Given the description of an element on the screen output the (x, y) to click on. 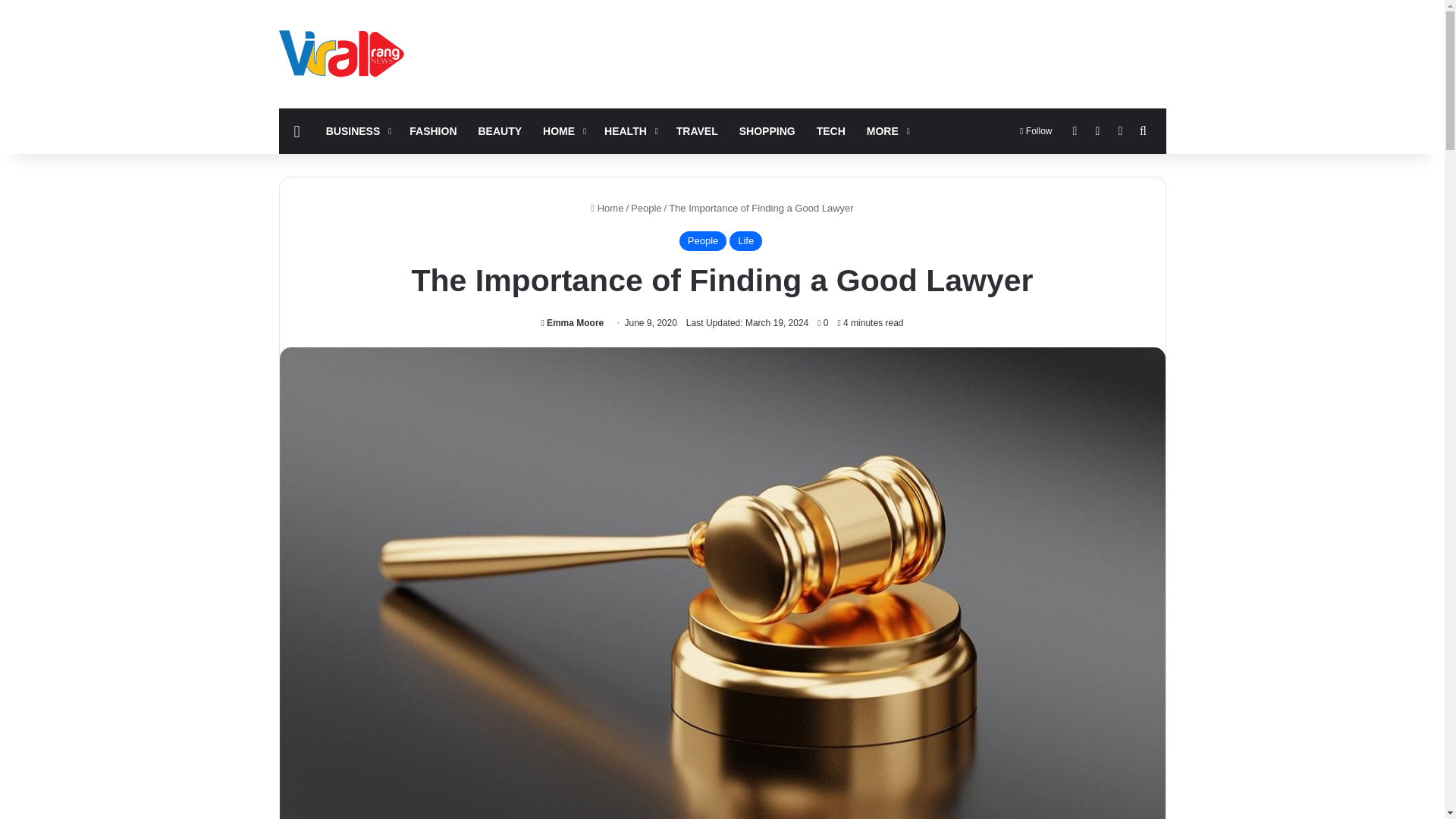
TRAVEL (697, 130)
TECH (831, 130)
HOME (563, 130)
BUSINESS (356, 130)
BEAUTY (499, 130)
SHOPPING (767, 130)
Viral Rang (344, 53)
HEALTH (629, 130)
MORE (886, 130)
Emma Moore (572, 322)
